Given the description of an element on the screen output the (x, y) to click on. 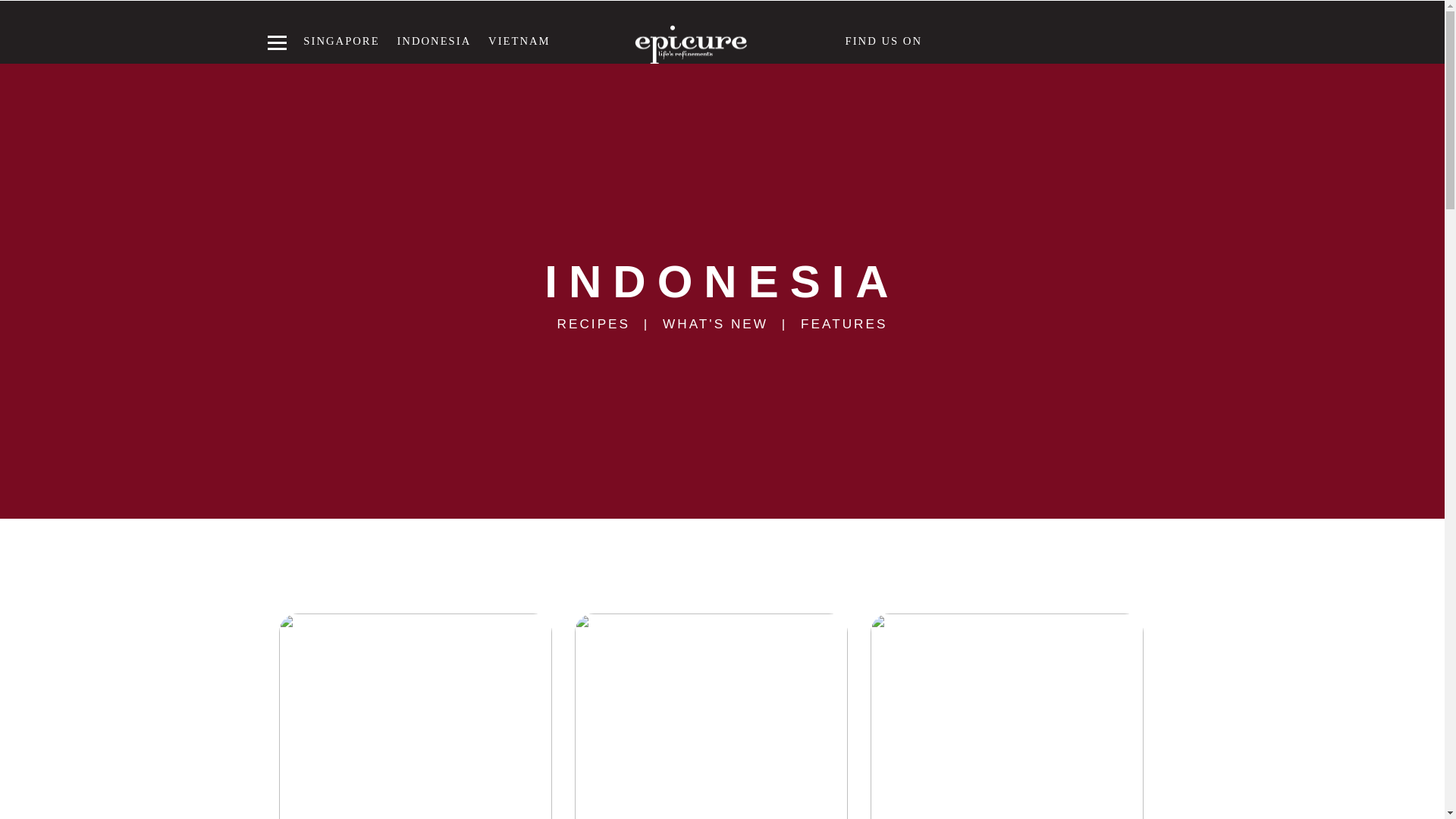
INDONESIA (433, 40)
SINGAPORE (340, 40)
VIETNAM (518, 40)
